Given the description of an element on the screen output the (x, y) to click on. 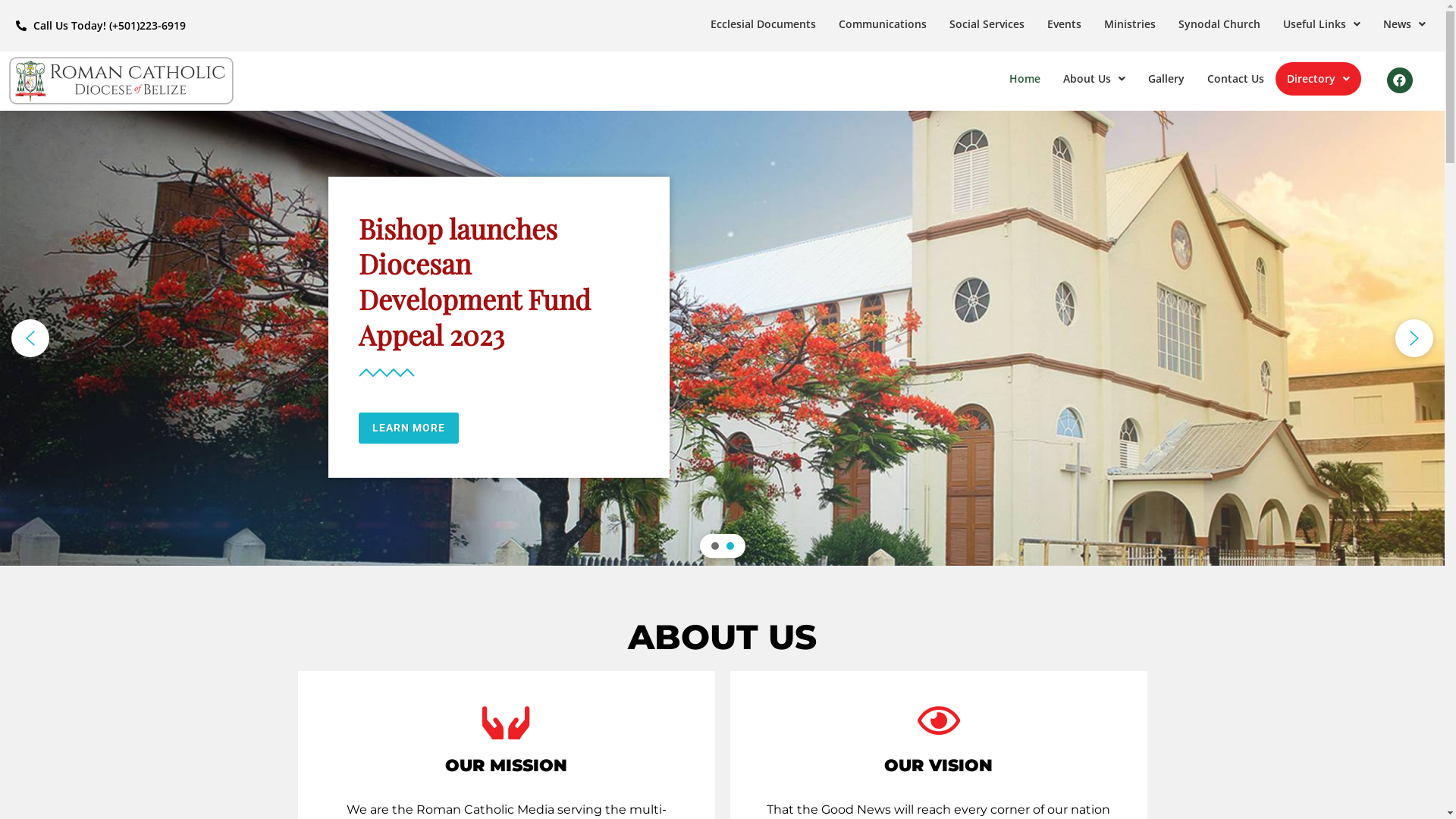
LEARN MORE Element type: text (407, 427)
About Us Element type: text (1093, 78)
Social Services Element type: text (986, 23)
Contact Us Element type: text (1235, 78)
Skip to content Element type: text (11, 31)
Events Element type: text (1063, 23)
Communications Element type: text (882, 23)
Ministries Element type: text (1129, 23)
Synodal Church Element type: text (1219, 23)
Ecclesial Documents Element type: text (763, 23)
Directory Element type: text (1318, 78)
News Element type: text (1404, 23)
Home Element type: text (1024, 78)
Gallery Element type: text (1165, 78)
Useful Links Element type: text (1321, 23)
